Given the description of an element on the screen output the (x, y) to click on. 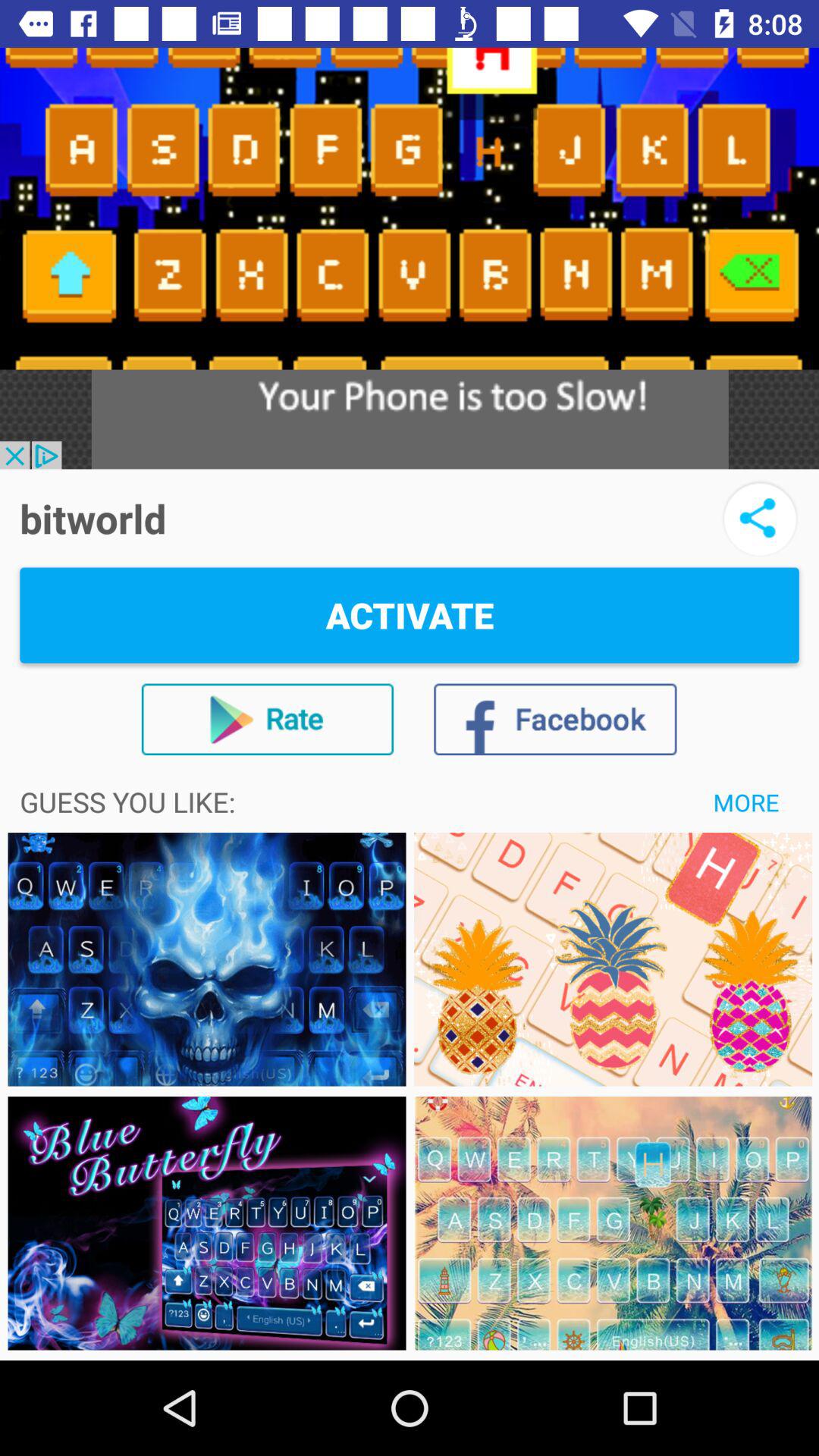
select the item above the activate (760, 518)
